Given the description of an element on the screen output the (x, y) to click on. 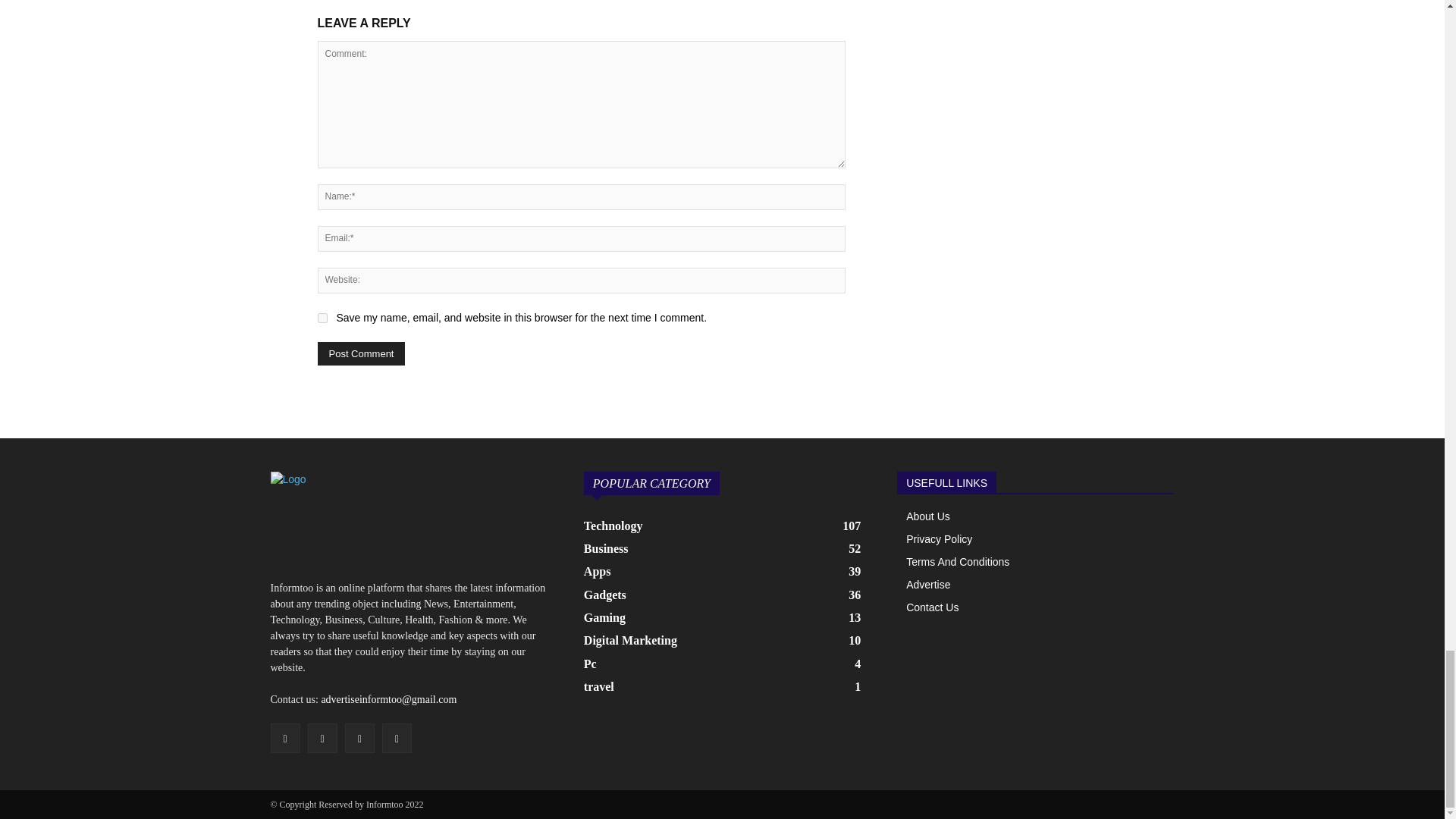
Post Comment (360, 353)
yes (321, 317)
